Given the description of an element on the screen output the (x, y) to click on. 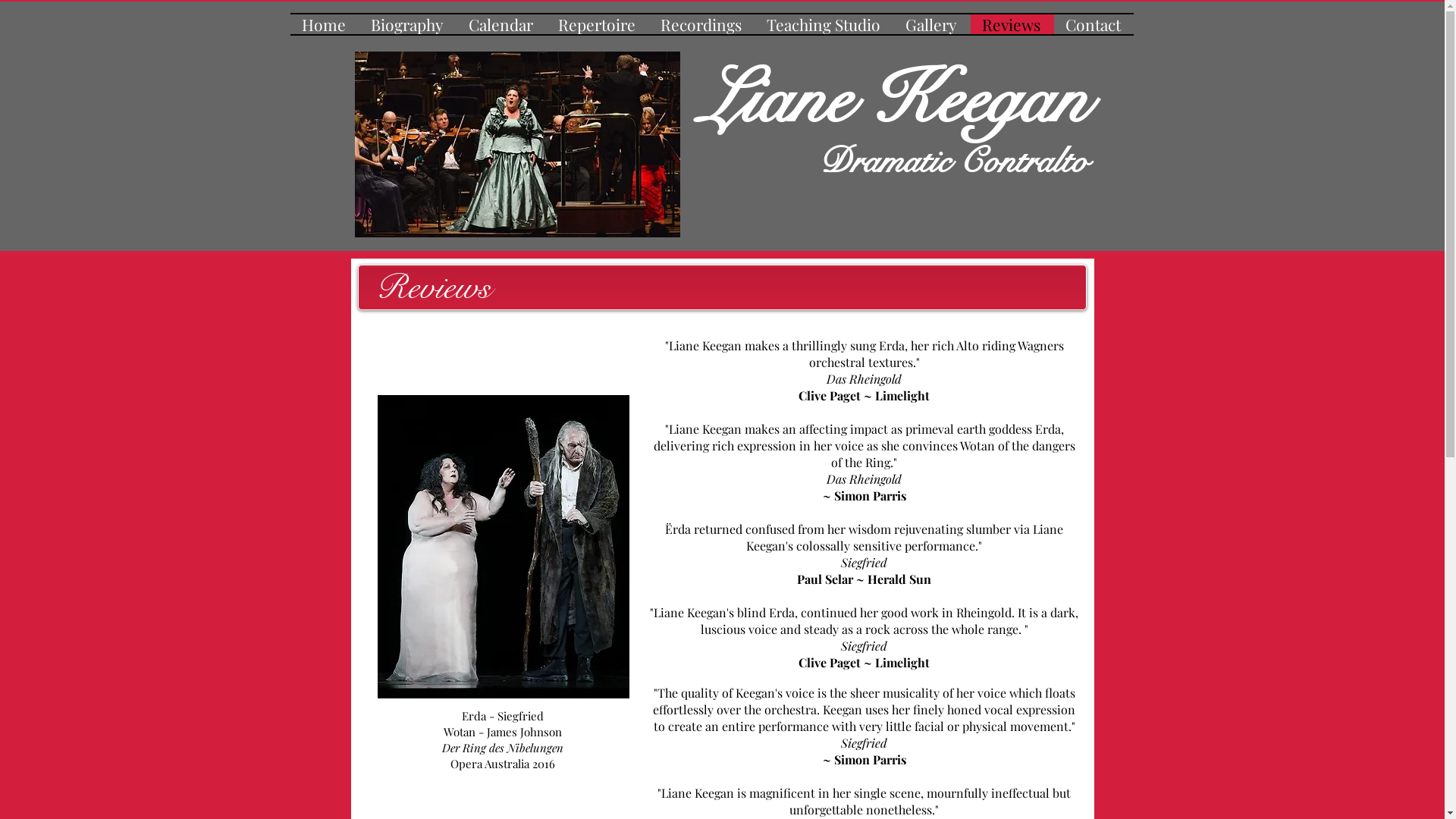
Home Element type: text (323, 24)
Calendar Element type: text (501, 24)
Recordings Element type: text (702, 24)
Contact Element type: text (1093, 24)
Repertoire Element type: text (597, 24)
Reviews Element type: text (1012, 24)
Teaching Studio Element type: text (824, 24)
Biography Element type: text (408, 24)
Sea pictures with MSO.jpg Element type: hover (517, 144)
Gallery Element type: text (931, 24)
